Given the description of an element on the screen output the (x, y) to click on. 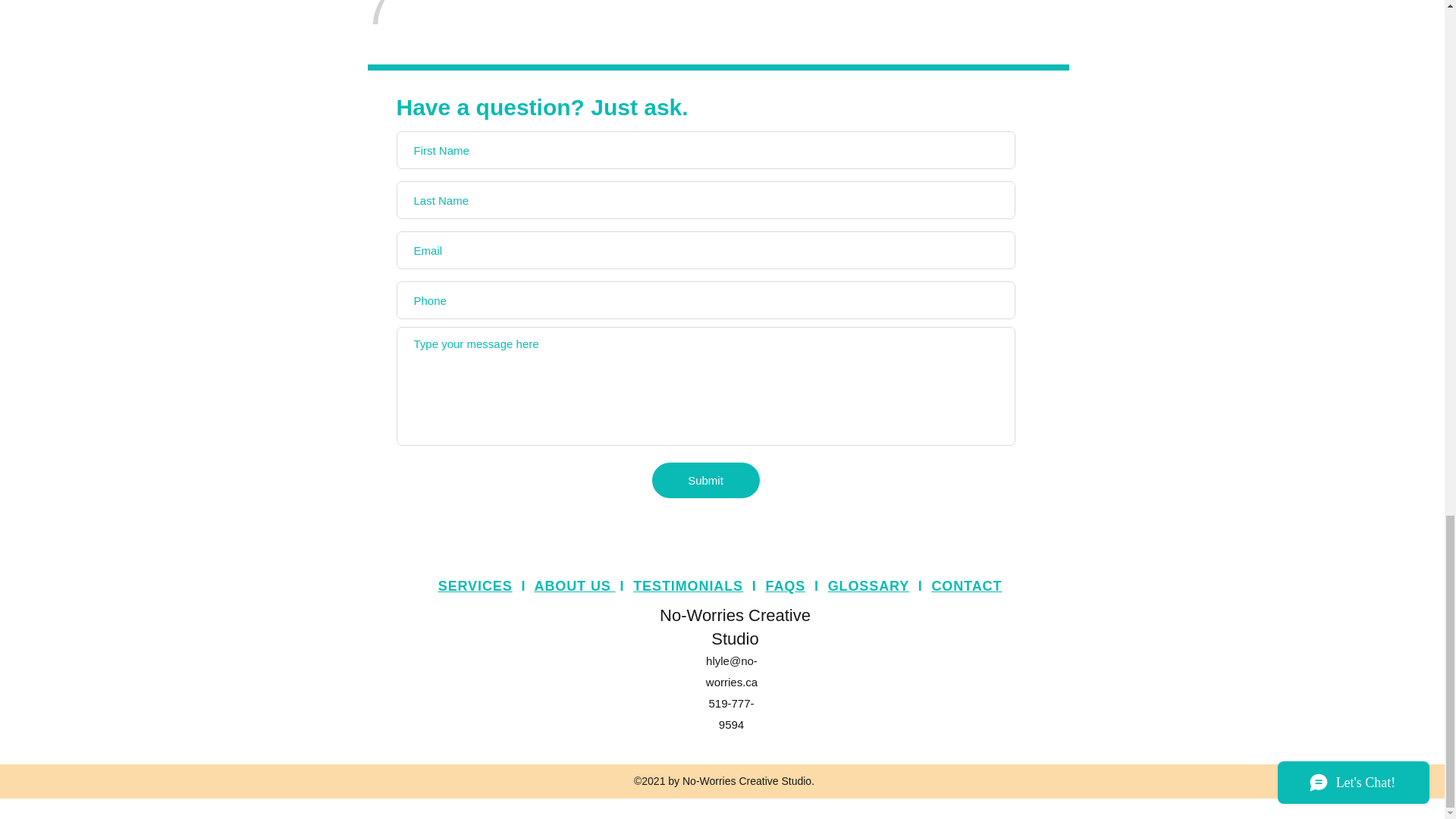
No-Worries Creative Studio (734, 627)
ABOUT US (574, 585)
TESTIMONIALS (687, 585)
CONTACT (966, 585)
Submit (706, 479)
GLOSSARY (868, 585)
FAQS (785, 585)
SERVICES (475, 585)
